Given the description of an element on the screen output the (x, y) to click on. 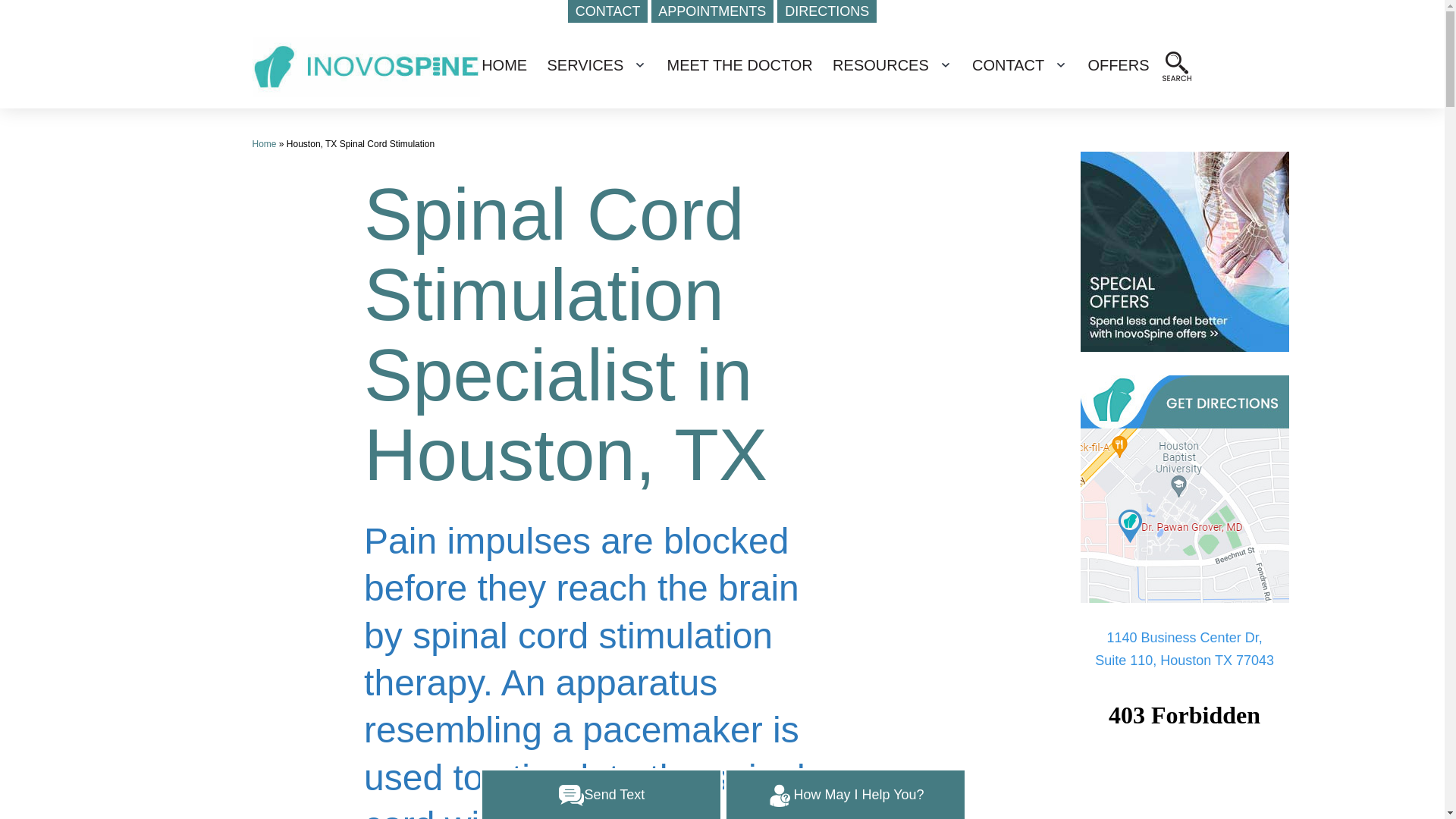
RESOURCES (880, 65)
DIRECTIONS (826, 11)
Open menu (639, 64)
Get Directions to InovoSpine, Located in Houston, TX (1184, 488)
MEET THE DOCTOR (739, 65)
SERVICES (585, 65)
Open menu (945, 64)
APPOINTMENTS (711, 11)
HOME (504, 65)
CONTACT (607, 11)
